Given the description of an element on the screen output the (x, y) to click on. 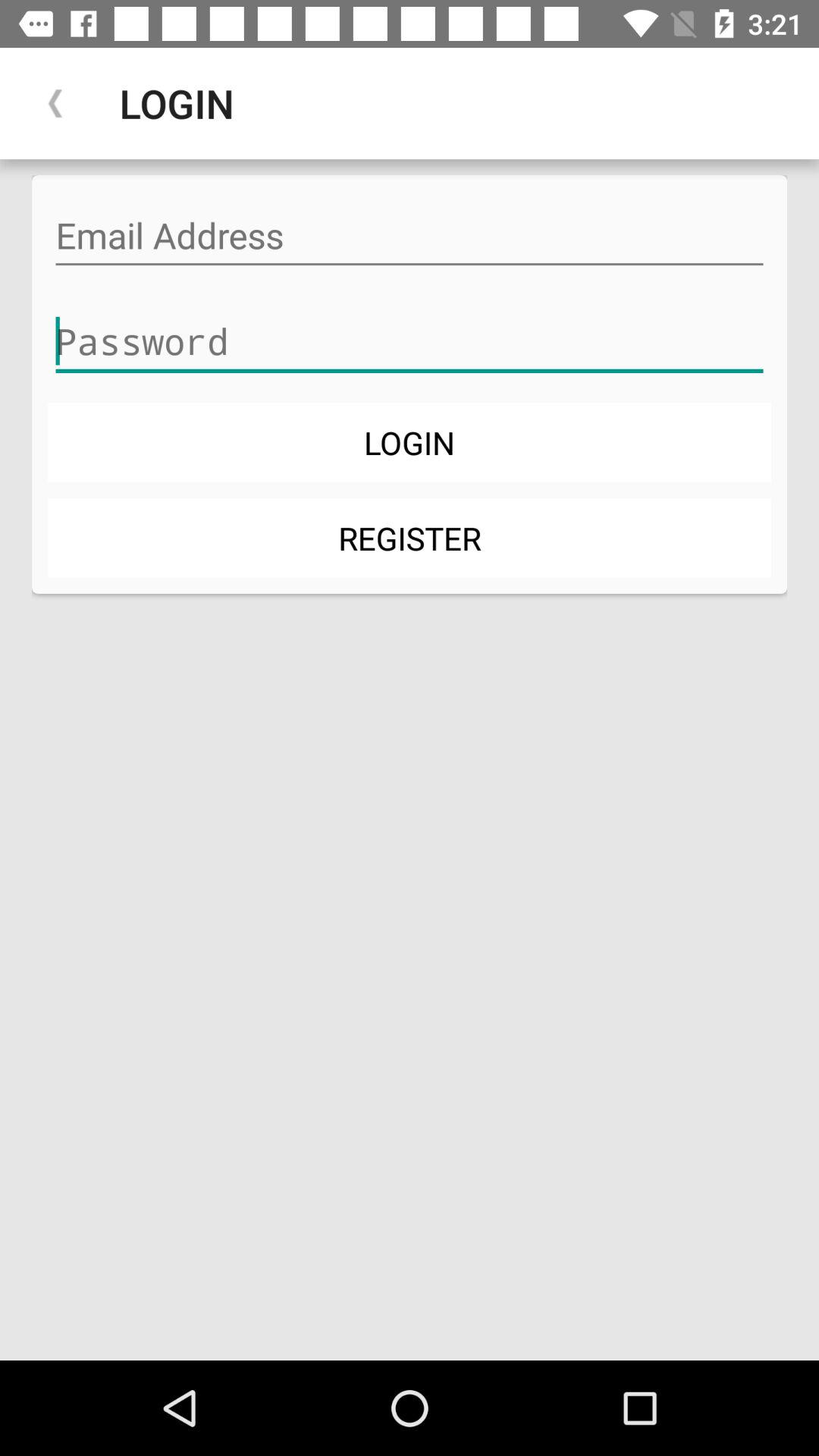
choose item above the login item (409, 341)
